Given the description of an element on the screen output the (x, y) to click on. 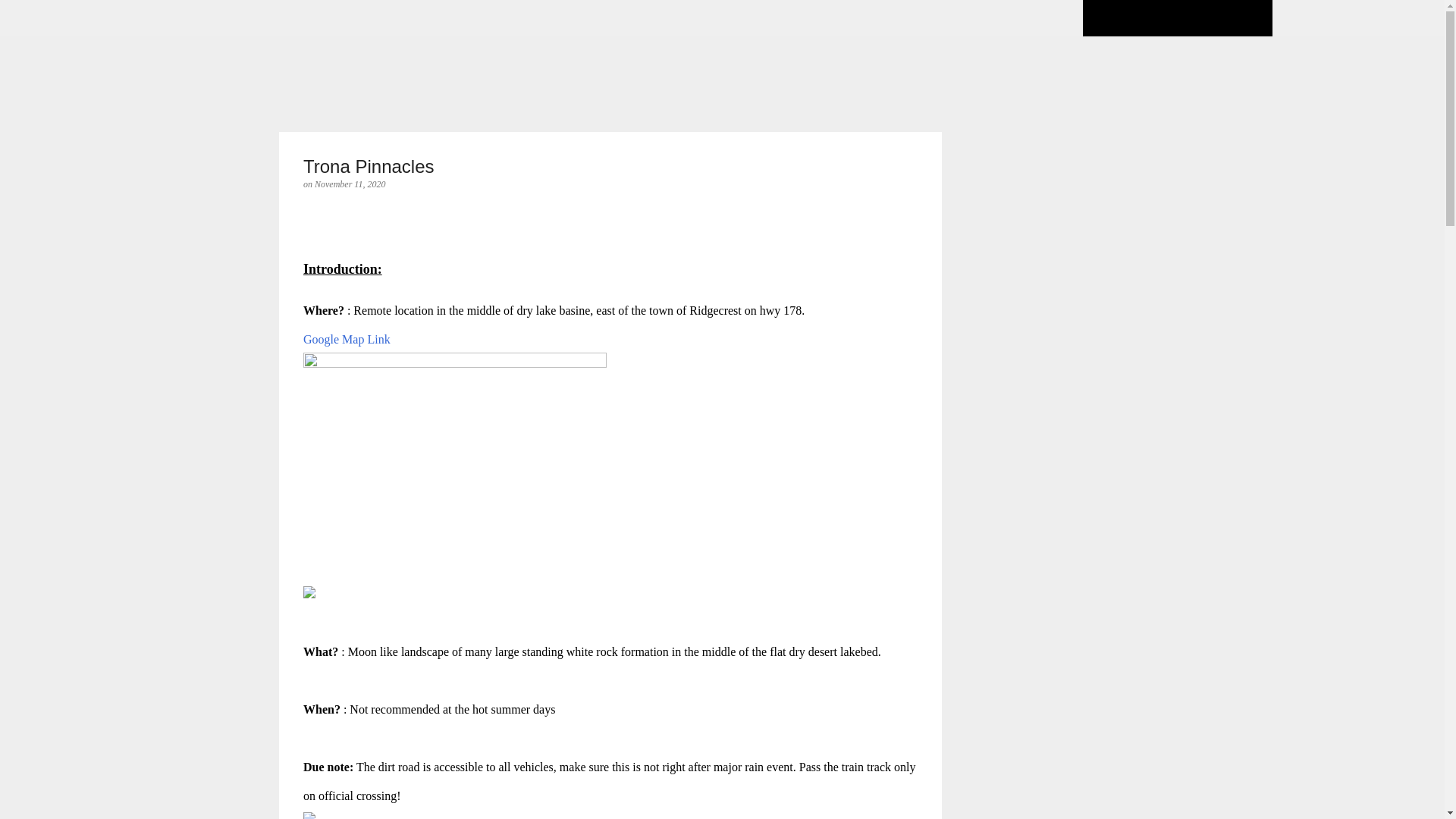
November 11, 2020 (349, 184)
permanent link (349, 184)
Google Map Link (346, 338)
